Given the description of an element on the screen output the (x, y) to click on. 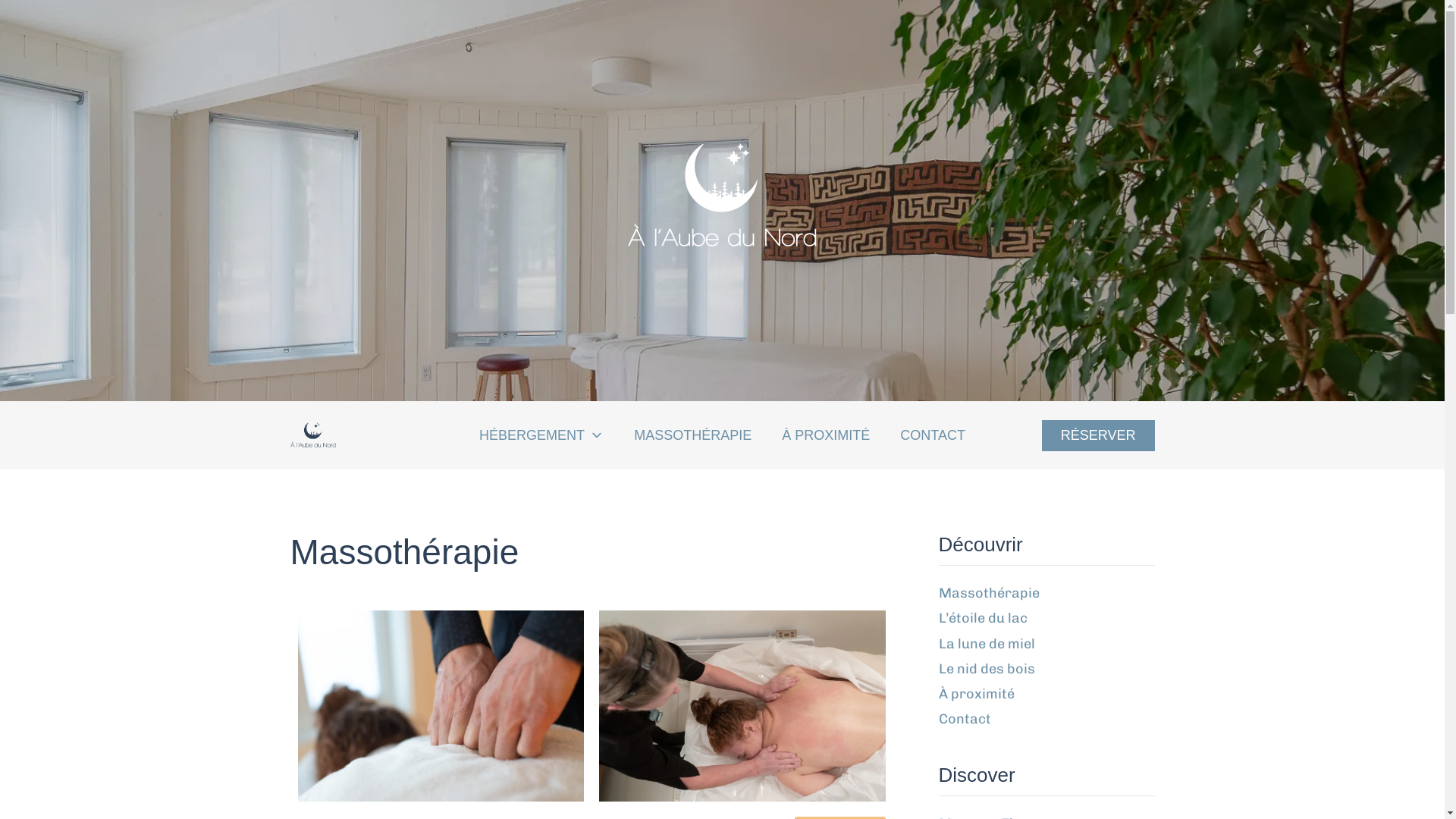
Contact Element type: text (964, 718)
CONTACT Element type: text (932, 435)
La lune de miel Element type: text (986, 643)
Le nid des bois Element type: text (986, 668)
